Given the description of an element on the screen output the (x, y) to click on. 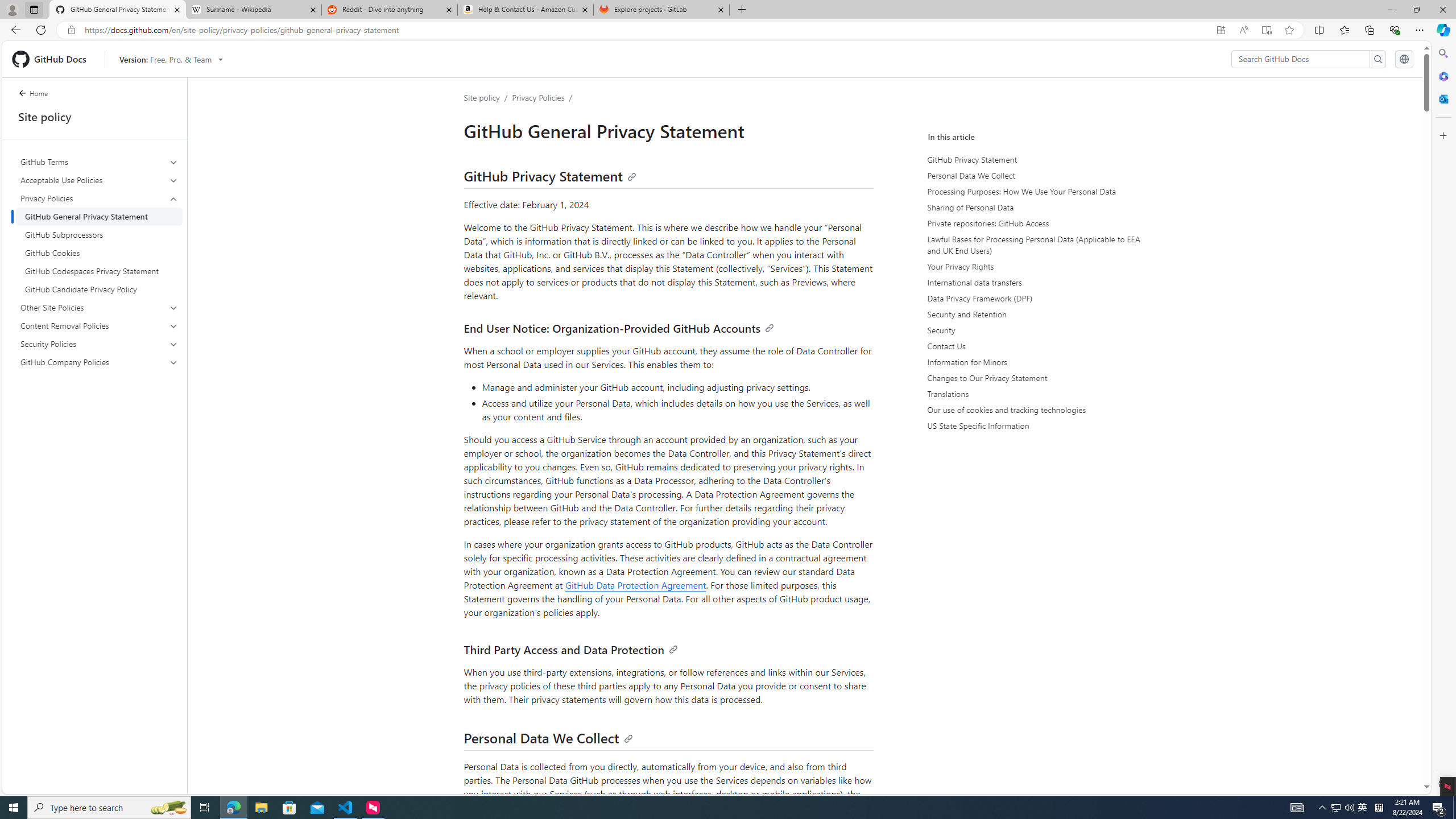
Private repositories: GitHub Access (1032, 223)
Security and Retention (1032, 314)
GitHub Docs (53, 58)
GitHub General Privacy Statement (99, 216)
GitHub Privacy Statement (1032, 159)
Privacy Policies (538, 97)
App available. Install GitHub Docs (1220, 29)
